Given the description of an element on the screen output the (x, y) to click on. 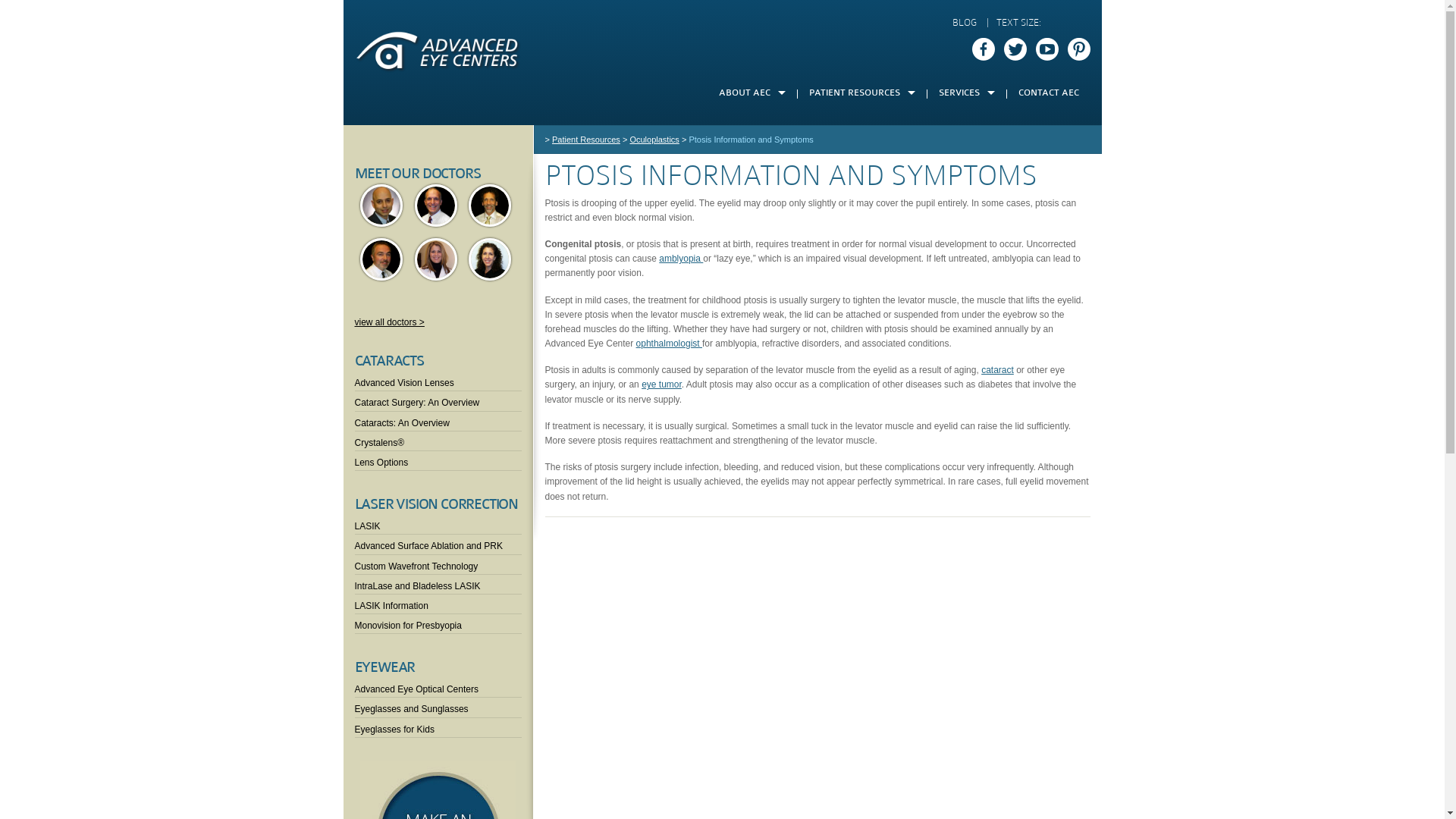
Advanced Eye Optical Centers Element type: text (437, 686)
Smoking Eye Disease Element type: text (732, 416)
Eye Surgery: What to Expect Element type: text (965, 166)
Cosmetic Treatments Element type: text (965, 143)
Locations & Hours Element type: text (751, 280)
Kathryn M. Arruda, O.D. Element type: hover (489, 259)
IntraLase and Bladeless LASIK Element type: text (437, 583)
SERVICES Element type: text (965, 92)
Oculoplastics Element type: text (653, 139)
cataract Element type: text (997, 369)
New Patient Forms Element type: text (861, 143)
Trauma & Eye Safety Element type: text (861, 416)
How The Eye Works Element type: text (861, 234)
Advanced Eye Surgery Center Element type: text (751, 211)
Advanced Vision Lenses Element type: text (437, 380)
Telehealth Services Element type: text (965, 211)
amblyopia Element type: text (680, 258)
Twitter Element type: hover (1015, 48)
Join Our Team Element type: text (751, 189)
Not Just Eye Care, We Care Element type: text (751, 234)
Cataract Surgery: An Overview Element type: text (437, 400)
General Interest Element type: text (861, 257)
Contact Lenses Element type: text (965, 120)
Paul J. Botelho, M.D. Element type: hover (381, 259)
Monovision for Presbyopia Element type: text (437, 623)
Information About Dry Eye Element type: text (732, 325)
ABOUT AEC Element type: text (751, 92)
Corneal & External Disease Element type: text (861, 280)
Marc P. Wladis, M.D. Element type: hover (489, 205)
Advanced Surface Ablation and PRK Element type: text (437, 543)
Advanced Medical Directive & Health Care Proxy Element type: text (861, 211)
Meet Our Team Element type: text (751, 166)
Lens Options Element type: text (437, 460)
Welcome To Advanced Eye Centers Element type: text (751, 120)
Pediactrics & Strabismus Element type: text (861, 371)
Kameran Lashkari, M.D. Element type: hover (381, 205)
Lori Michaud, O.D. Element type: hover (436, 259)
Refractive Errors Element type: text (732, 257)
Our Green Story Element type: text (751, 257)
How To Apply Eyedrops Element type: text (732, 371)
ophthalmologist Element type: text (669, 343)
Botox in Dartmouth, Fall River, New Bedford and Taunton MA Element type: text (886, 143)
Online Bill Pay Element type: text (861, 120)
LASIK Element type: text (965, 189)
Scott M. Corin, M.D. Element type: hover (436, 205)
LASIK Element type: text (437, 523)
Patient Rights Element type: text (861, 166)
view all doctors > Element type: text (389, 321)
eye tumor Element type: text (661, 384)
Patient Responsibilities Element type: text (861, 189)
Anatomy of the Eye Element type: text (732, 234)
Patient Resources Element type: text (586, 139)
PATIENT RESOURCES Element type: text (861, 92)
Ophthalmologists, Optometrists, and Opticians Element type: text (732, 393)
Computer Screens Element type: text (732, 280)
Eyeglasses for Kids Element type: text (437, 727)
Custom Wavefront Technology Element type: text (437, 564)
Low Vision Element type: text (861, 325)
Eye Care Facts & Myths Element type: text (732, 348)
Cataracts: An Overview Element type: text (437, 420)
Oculoplastics Element type: text (861, 348)
LASIK Information Element type: text (437, 603)
Conjunctivitis Element type: text (732, 302)
Retina & Vitreous Element type: text (861, 393)
Glaucoma Element type: text (861, 302)
Eyeglasses and Sunglasses Element type: text (437, 706)
BLOG Element type: text (968, 22)
CONTACT AEC Element type: text (1048, 92)
